Given the description of an element on the screen output the (x, y) to click on. 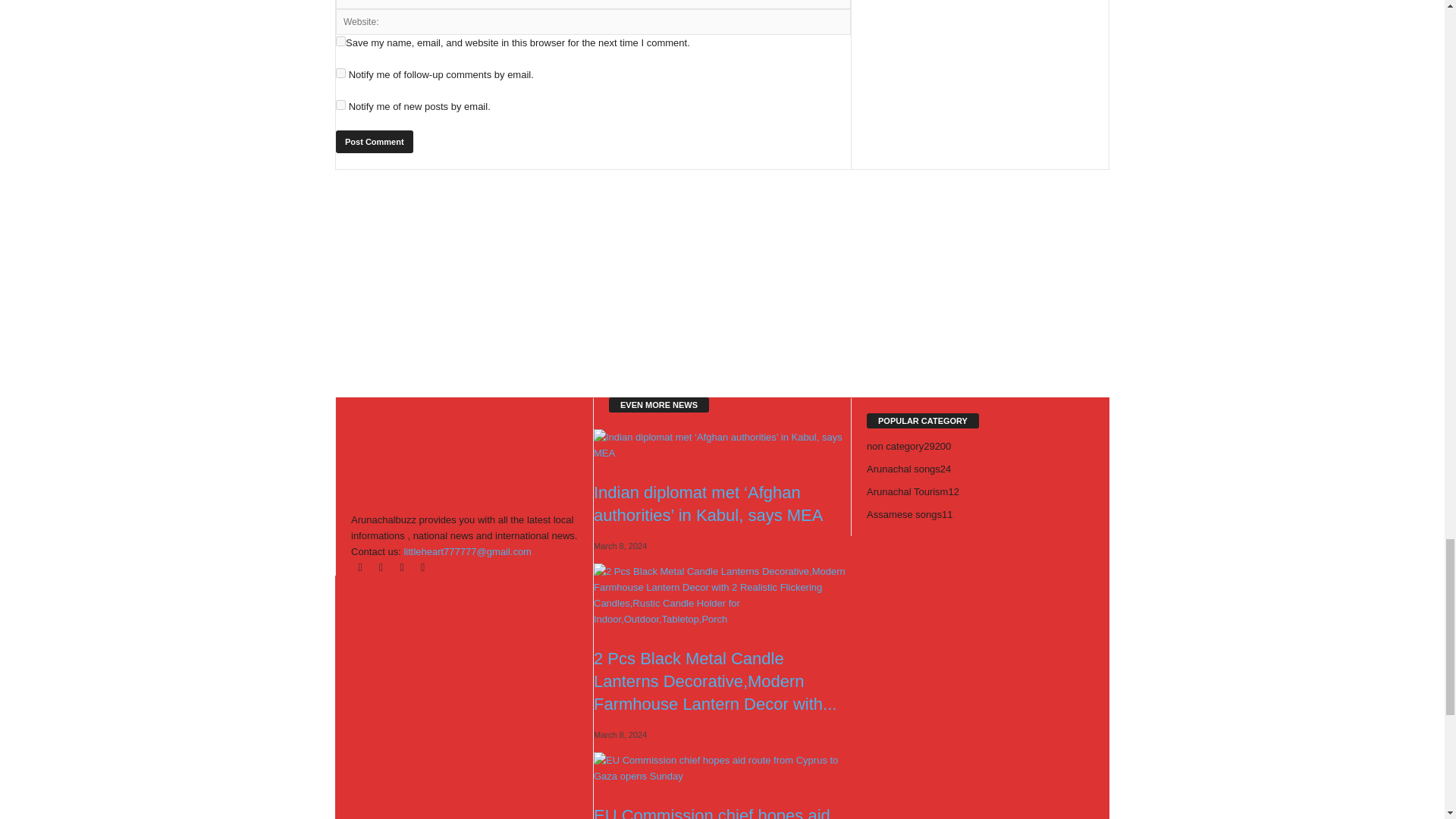
subscribe (341, 72)
subscribe (341, 104)
yes (341, 40)
Post Comment (374, 141)
